Given the description of an element on the screen output the (x, y) to click on. 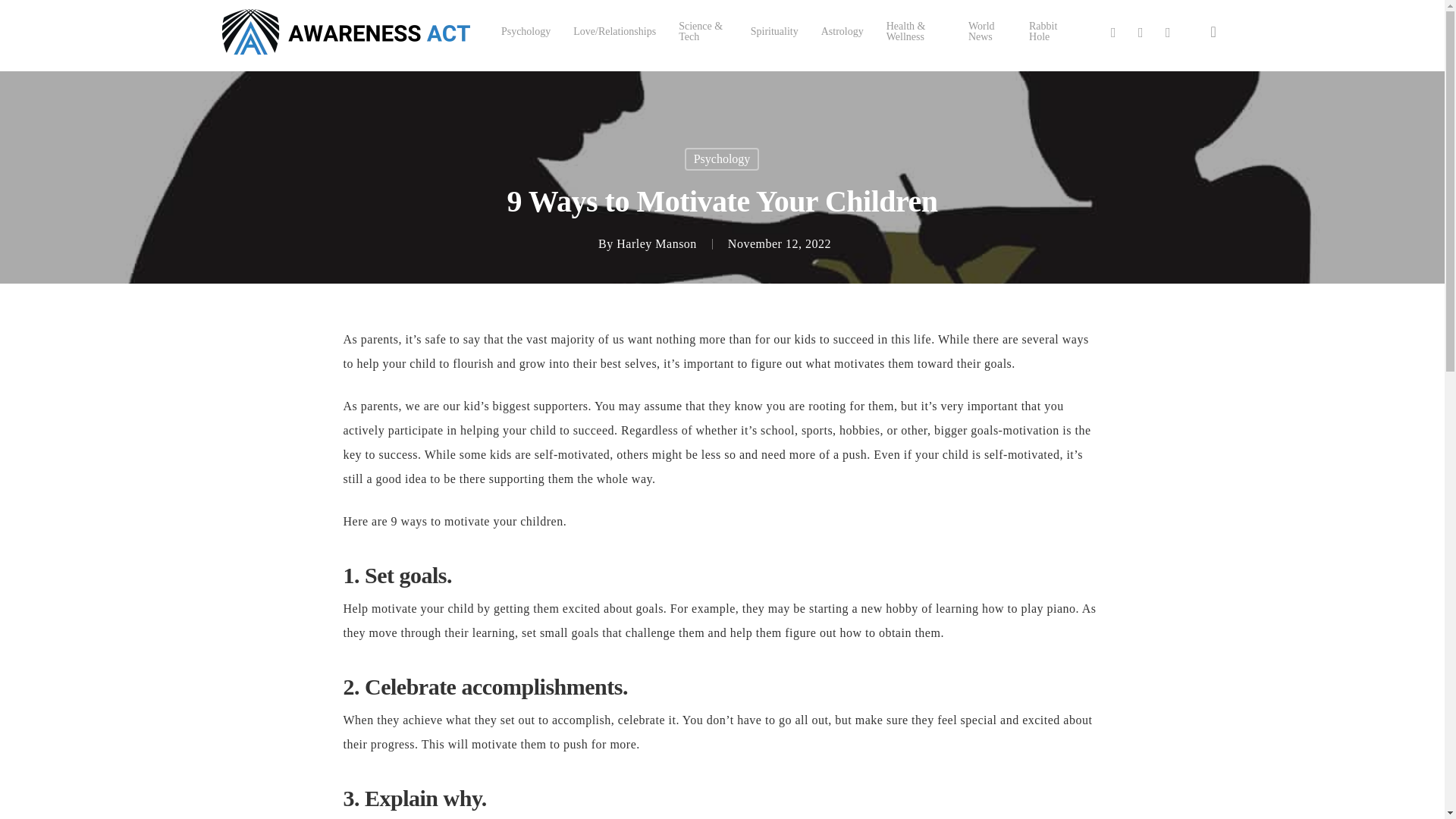
Twitter (1112, 31)
Rabbit Hole (1047, 31)
Disclosure (873, 806)
Harley Manson (656, 243)
search (1213, 32)
Instagram (1167, 31)
Psychology (525, 31)
Posts by Harley Manson (656, 243)
Privacy     (832, 806)
Astrology (842, 31)
Legal (751, 806)
World News (987, 31)
Facebook (1140, 31)
DMCA (787, 806)
Spirituality (774, 31)
